Given the description of an element on the screen output the (x, y) to click on. 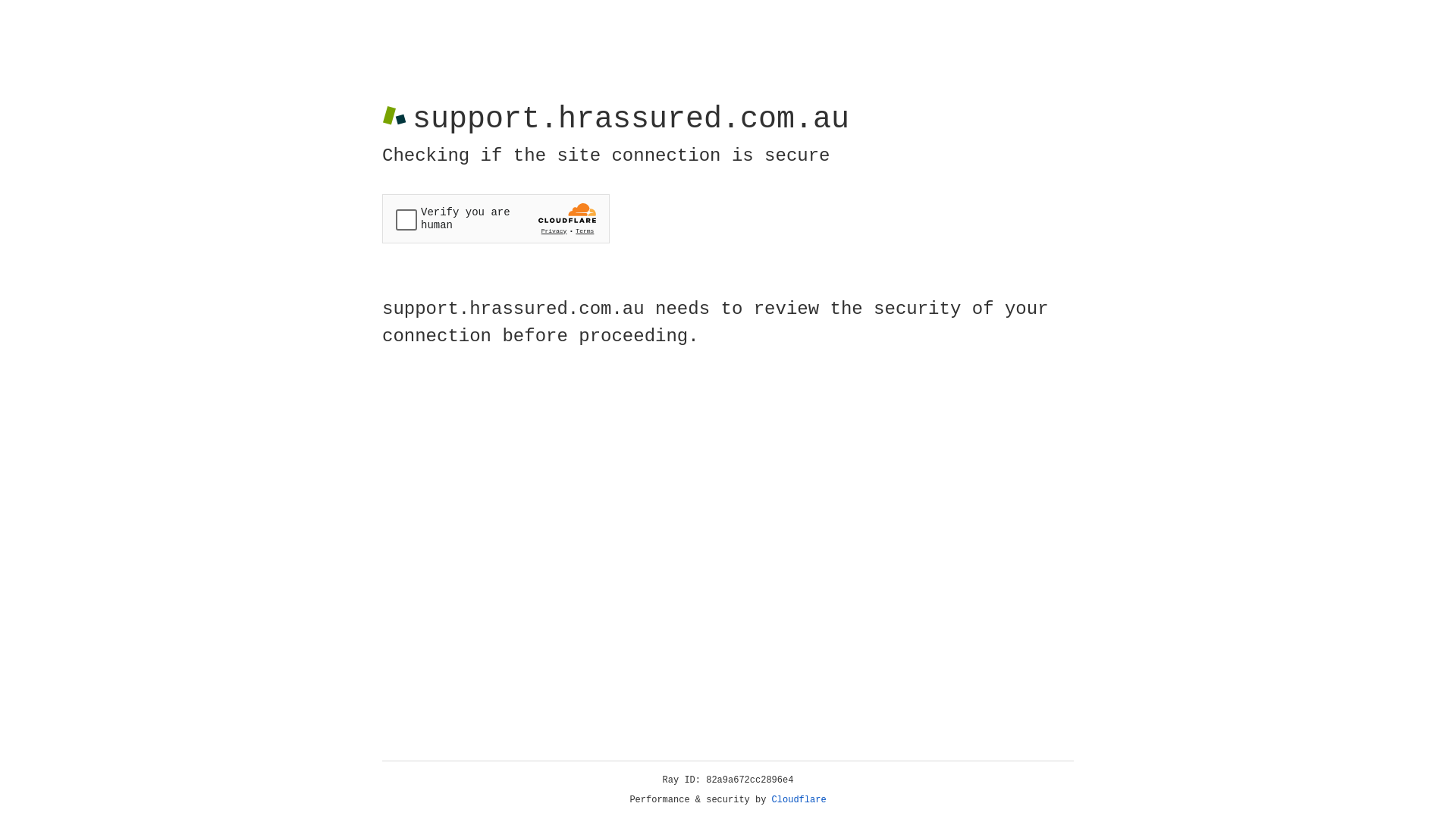
Widget containing a Cloudflare security challenge Element type: hover (495, 218)
Cloudflare Element type: text (798, 799)
